Given the description of an element on the screen output the (x, y) to click on. 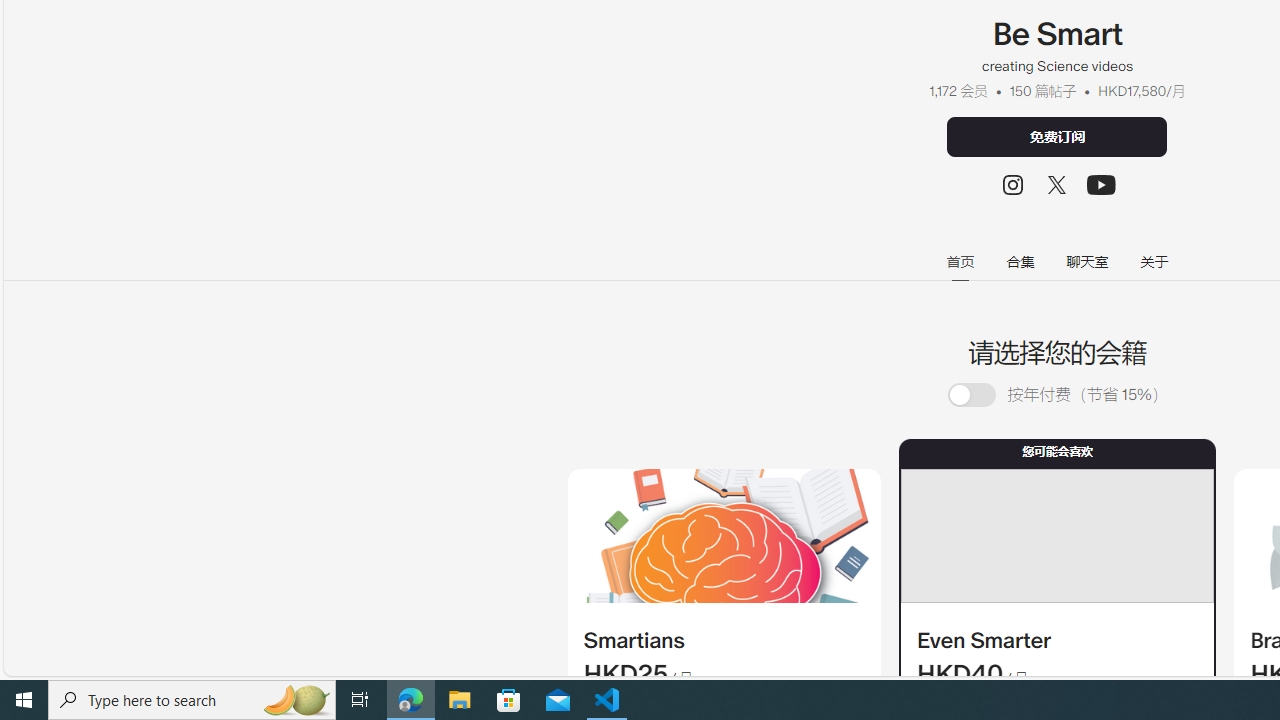
Class: sc-1a2jhmw-3 djwfLg (1056, 536)
Class: sc-jrQzAO HeRcC sc-1b5vbhn-1 hqVCmM (1101, 184)
Loading (971, 395)
Loading (983, 394)
